Given the description of an element on the screen output the (x, y) to click on. 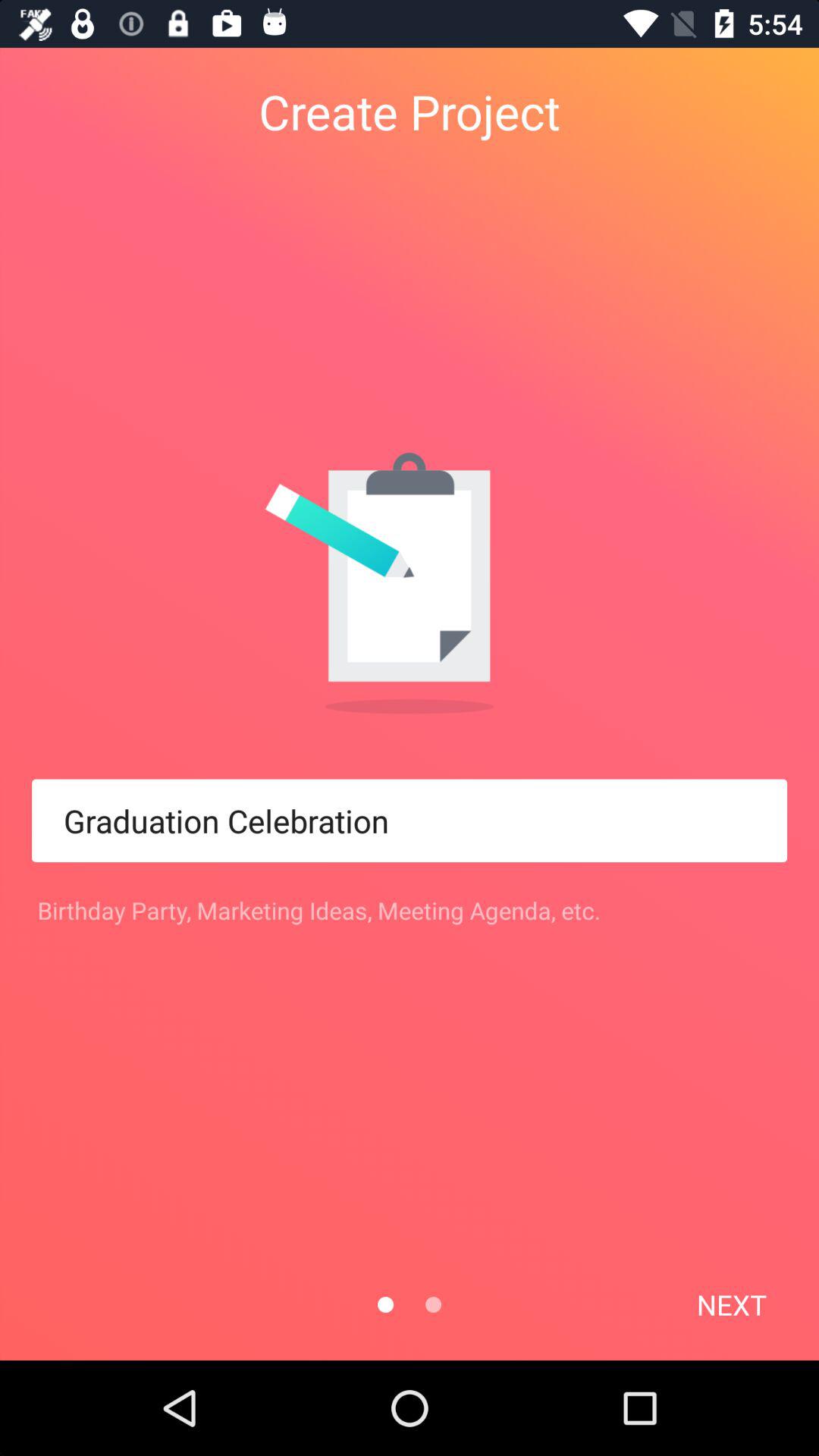
flip until the graduation celebration item (409, 820)
